Given the description of an element on the screen output the (x, y) to click on. 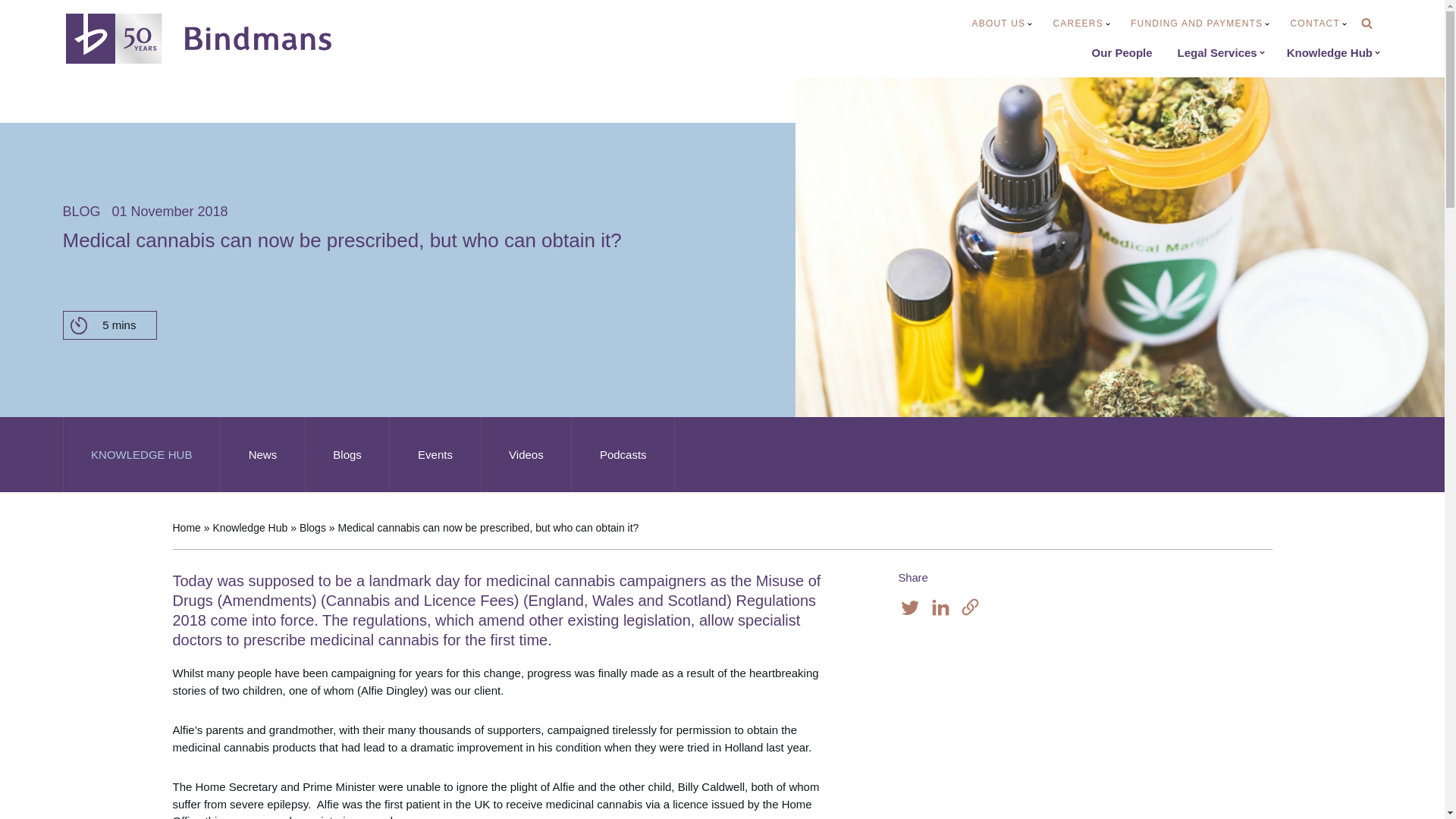
Skip to content (11, 31)
ABOUT US (1002, 24)
Our People (1122, 52)
FUNDING AND PAYMENTS (1200, 24)
Legal Services (1221, 52)
CAREERS (1080, 24)
CONTACT (1318, 24)
